Given the description of an element on the screen output the (x, y) to click on. 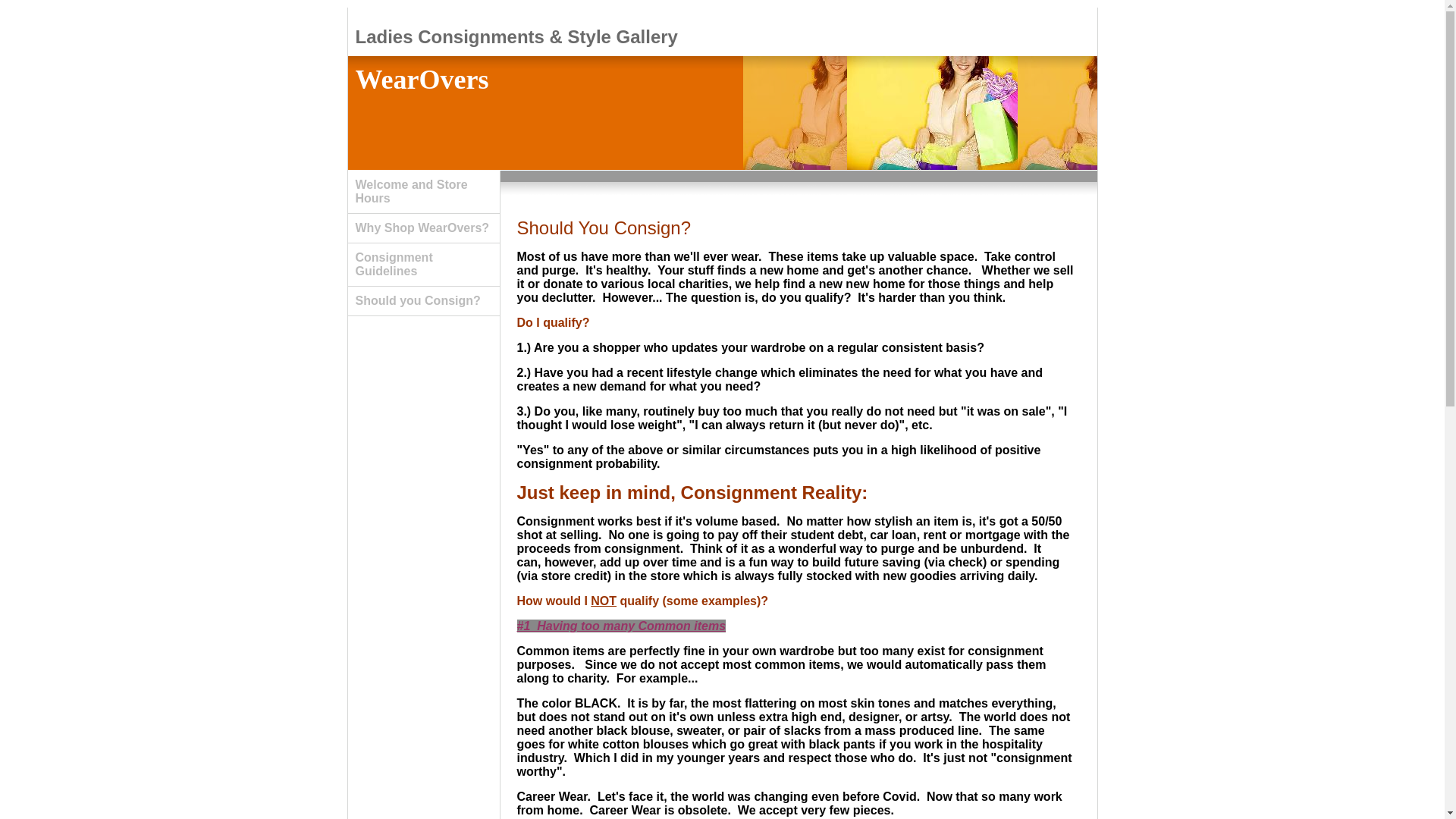
Should you Consign? (423, 301)
Why Shop WearOvers? (423, 228)
Welcome and Store Hours (423, 191)
Consignment Guidelines (423, 264)
